Given the description of an element on the screen output the (x, y) to click on. 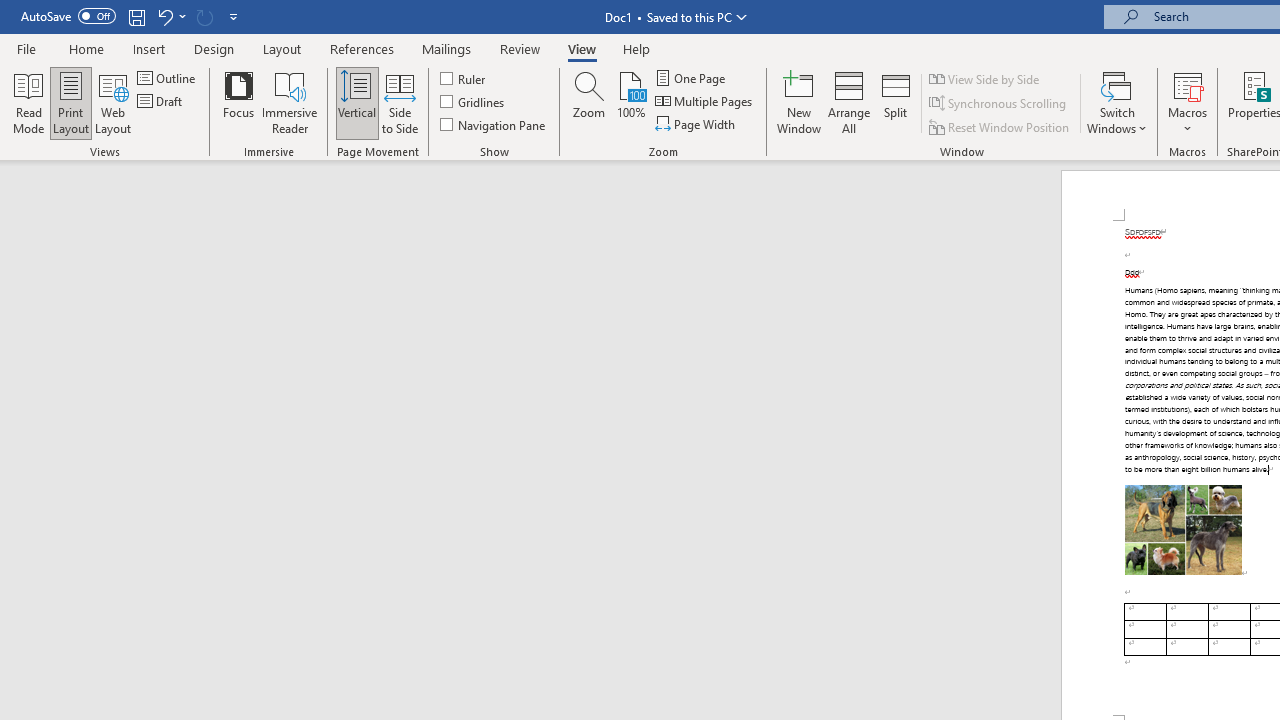
Gridlines (473, 101)
View Side by Side (985, 78)
Side to Side (399, 102)
Arrange All (848, 102)
Undo Apply Quick Style Set (164, 15)
Outline (168, 78)
One Page (691, 78)
